Given the description of an element on the screen output the (x, y) to click on. 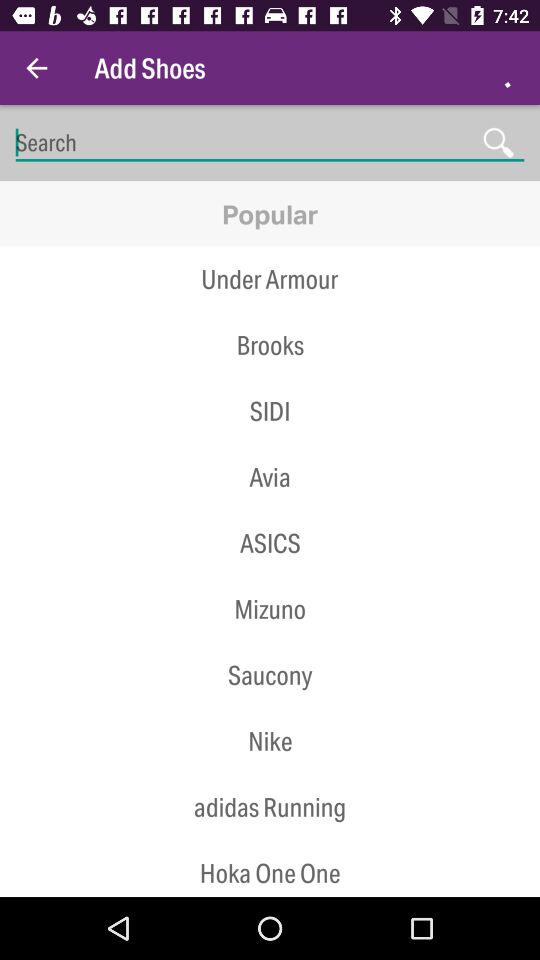
enter in type of shoe your looking for (269, 142)
